Given the description of an element on the screen output the (x, y) to click on. 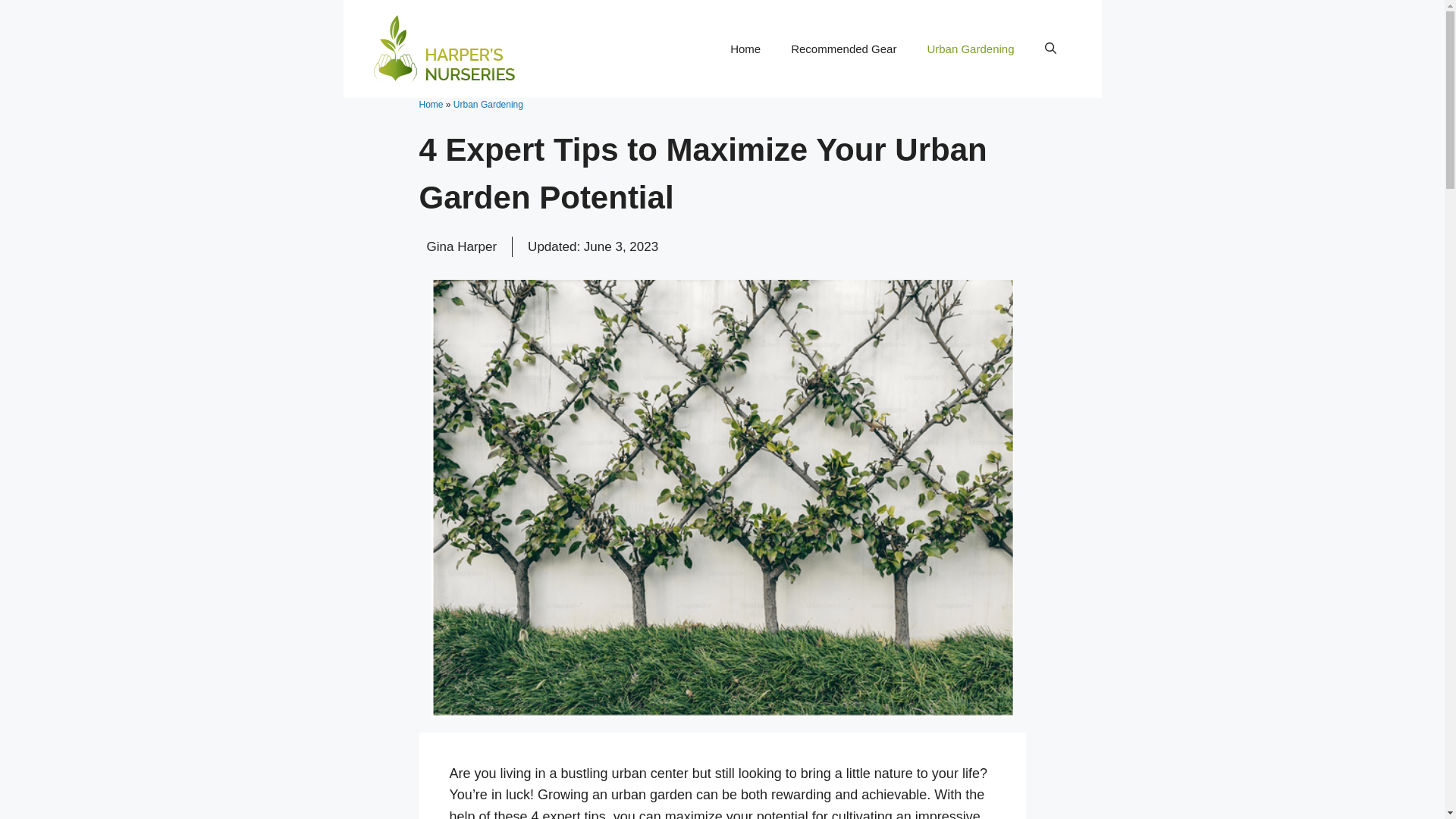
Recommended Gear (843, 48)
Home (430, 104)
Urban Gardening (970, 48)
Urban Gardening (487, 104)
Home (745, 48)
